Given the description of an element on the screen output the (x, y) to click on. 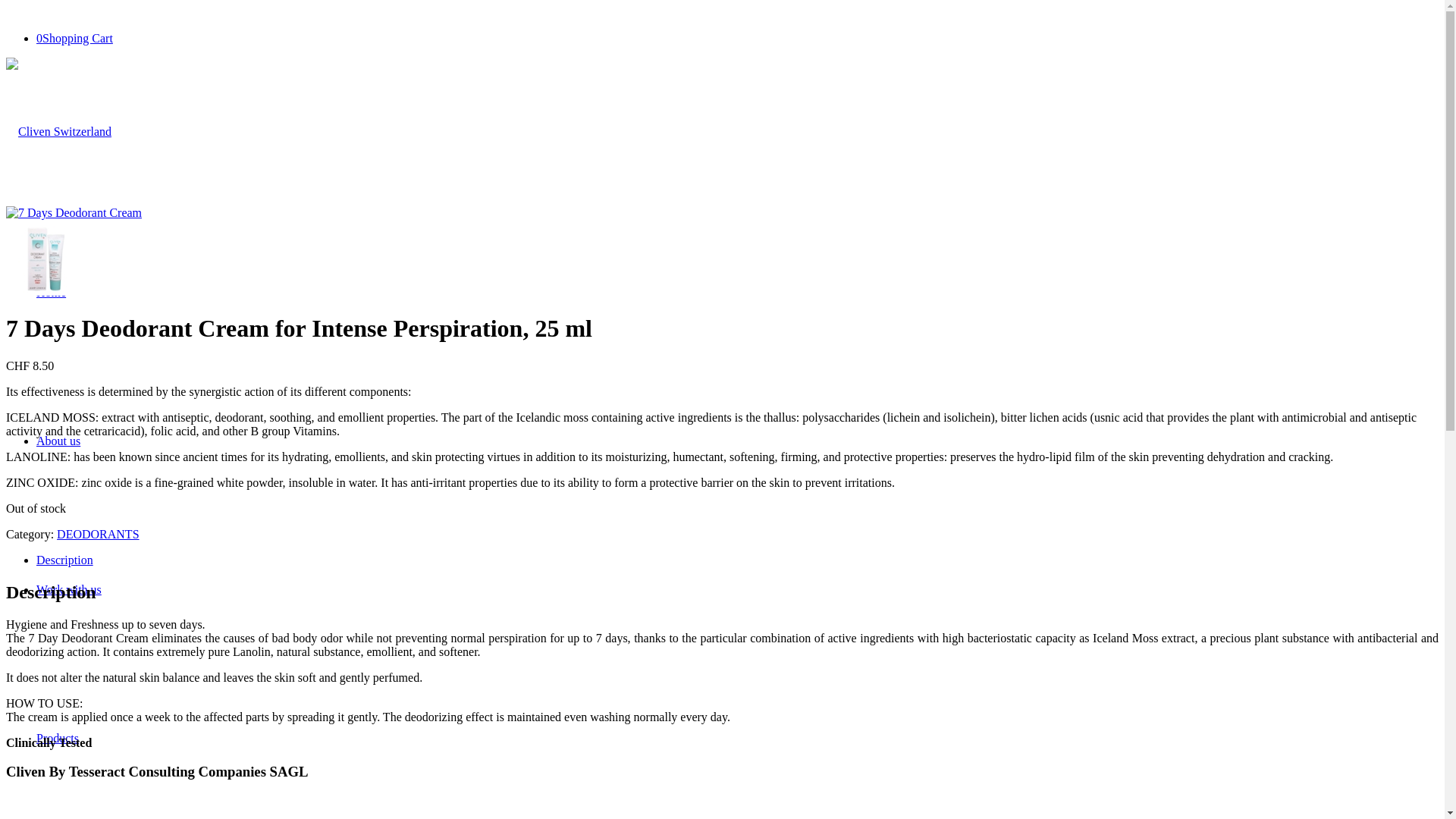
0Shopping Cart Element type: text (74, 37)
About us Element type: text (58, 440)
DEODORANTS Element type: text (97, 533)
Home Element type: text (50, 291)
Products Element type: text (57, 737)
Work with us Element type: text (68, 589)
Description Element type: text (64, 559)
